Given the description of an element on the screen output the (x, y) to click on. 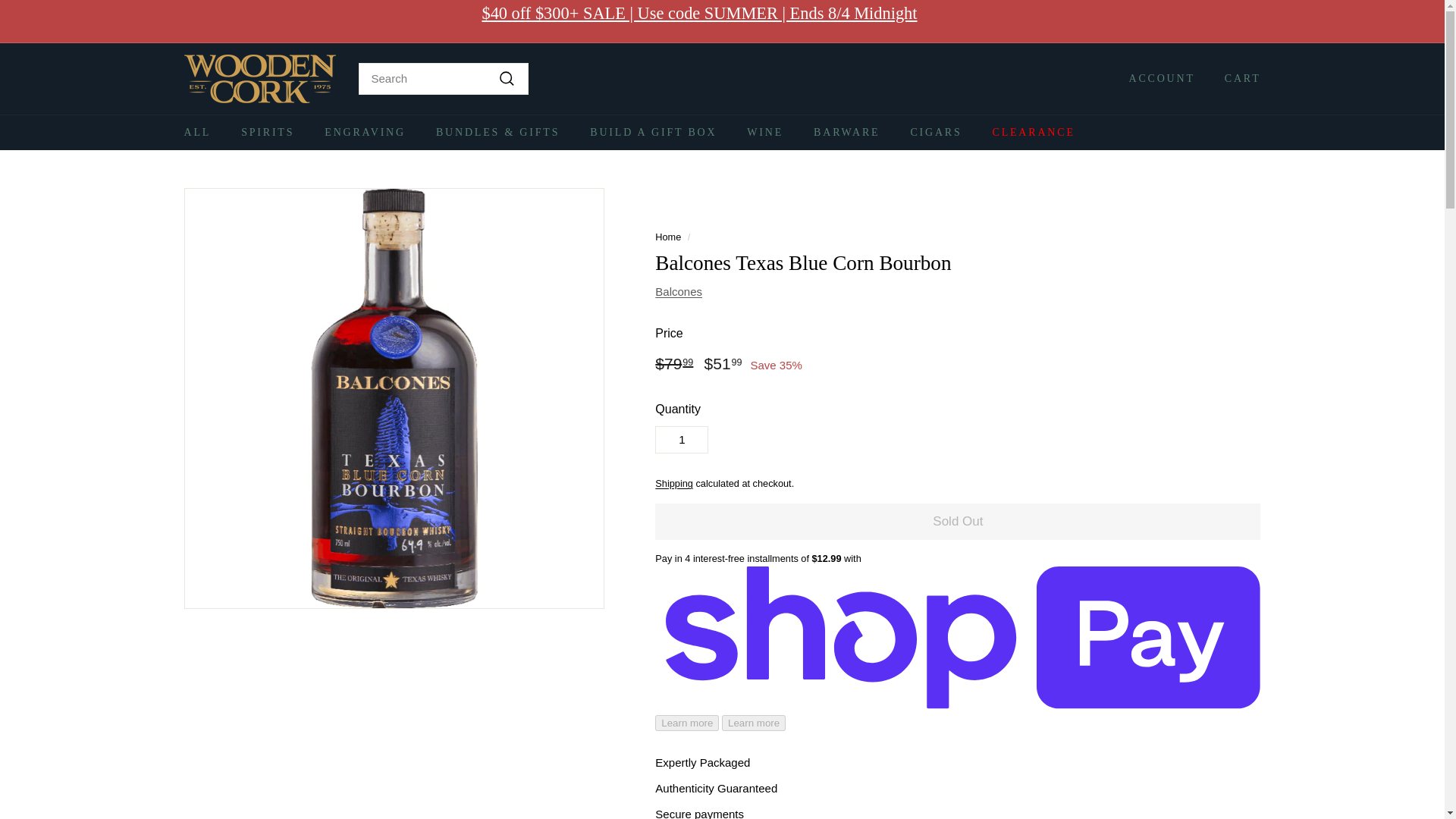
Pinterest (1256, 21)
CART (1236, 78)
Wooden Cork on Twitter (1248, 21)
Wooden Cork on Pinterest (1256, 21)
ACCOUNT (1156, 78)
Twitter (1248, 21)
Back to the frontpage (668, 236)
Instagram (1226, 21)
YouTube (1240, 21)
Wooden Cork on Instagram (1226, 21)
